Given the description of an element on the screen output the (x, y) to click on. 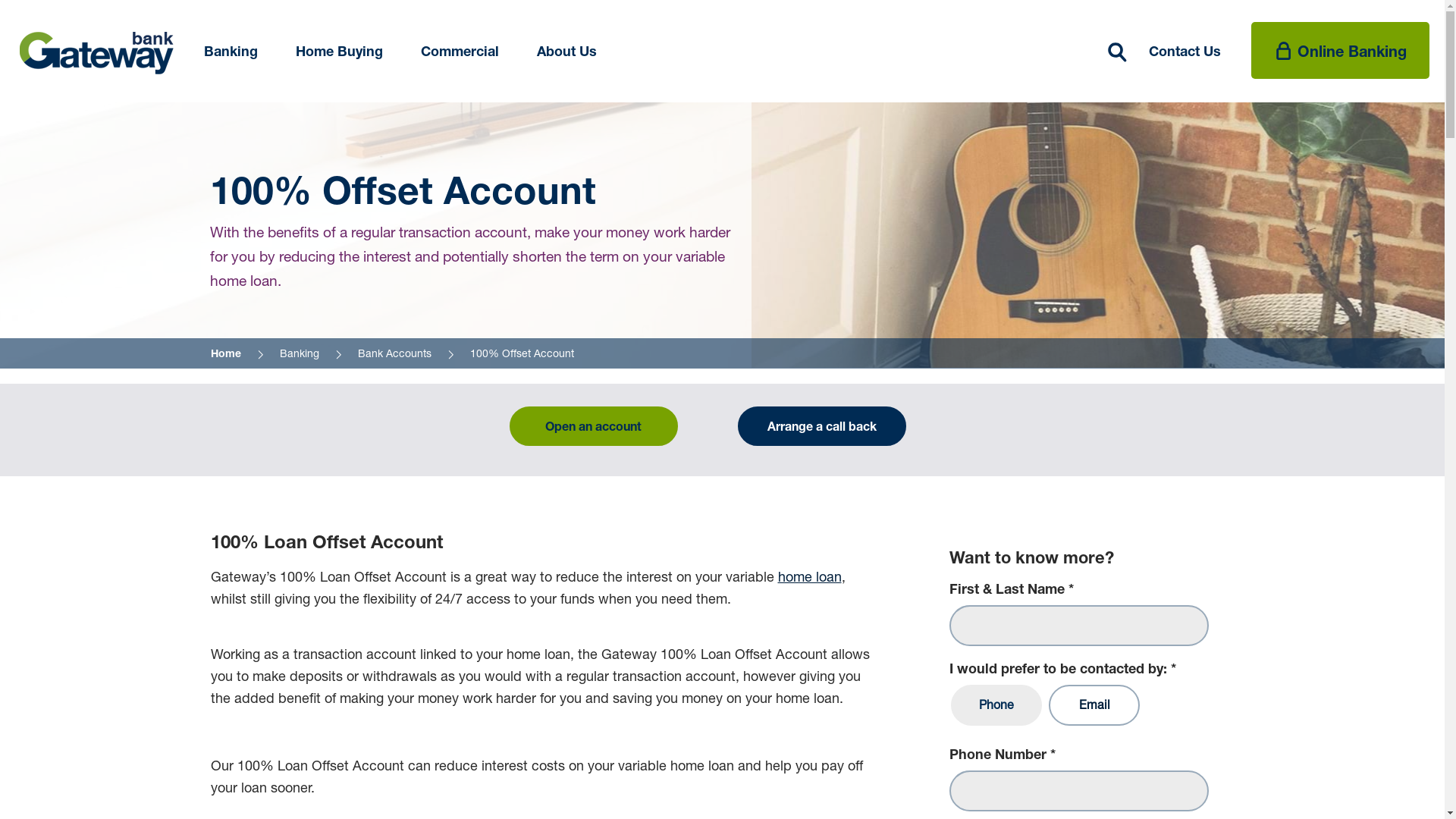
Home Buying Element type: text (339, 51)
Commercial Element type: text (459, 51)
Arrange a call back Element type: text (821, 425)
Online Banking Element type: text (1340, 49)
Open an account Element type: text (593, 425)
Home Element type: text (225, 353)
home loan Element type: text (809, 575)
Banking Element type: text (230, 51)
About Us Element type: text (566, 51)
